Given the description of an element on the screen output the (x, y) to click on. 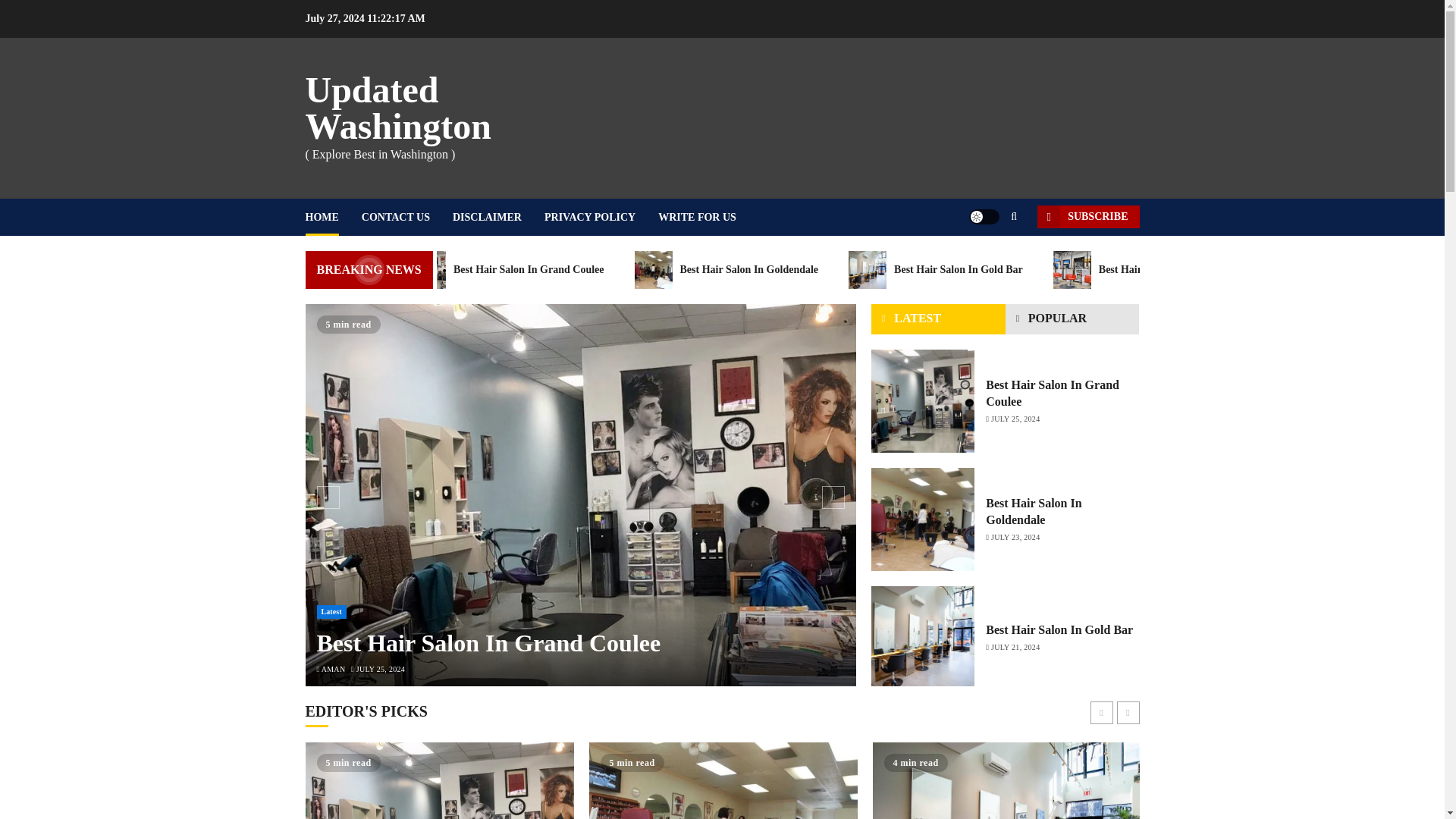
Best Hair Salon In Grand Coulee (547, 269)
Search (1013, 216)
HOME (332, 217)
AMAN (333, 669)
CONTACT US (406, 217)
JULY 25, 2024 (380, 669)
Best Hair Salon In Goldendale (767, 269)
Best Hair Salon In Gig Harbor (1184, 269)
SUBSCRIBE (1087, 216)
Updated Washington (397, 107)
Search (990, 262)
Latest (331, 612)
PRIVACY POLICY (601, 217)
Best Hair Salon In Gold Bar (975, 269)
WRITE FOR US (697, 217)
